Given the description of an element on the screen output the (x, y) to click on. 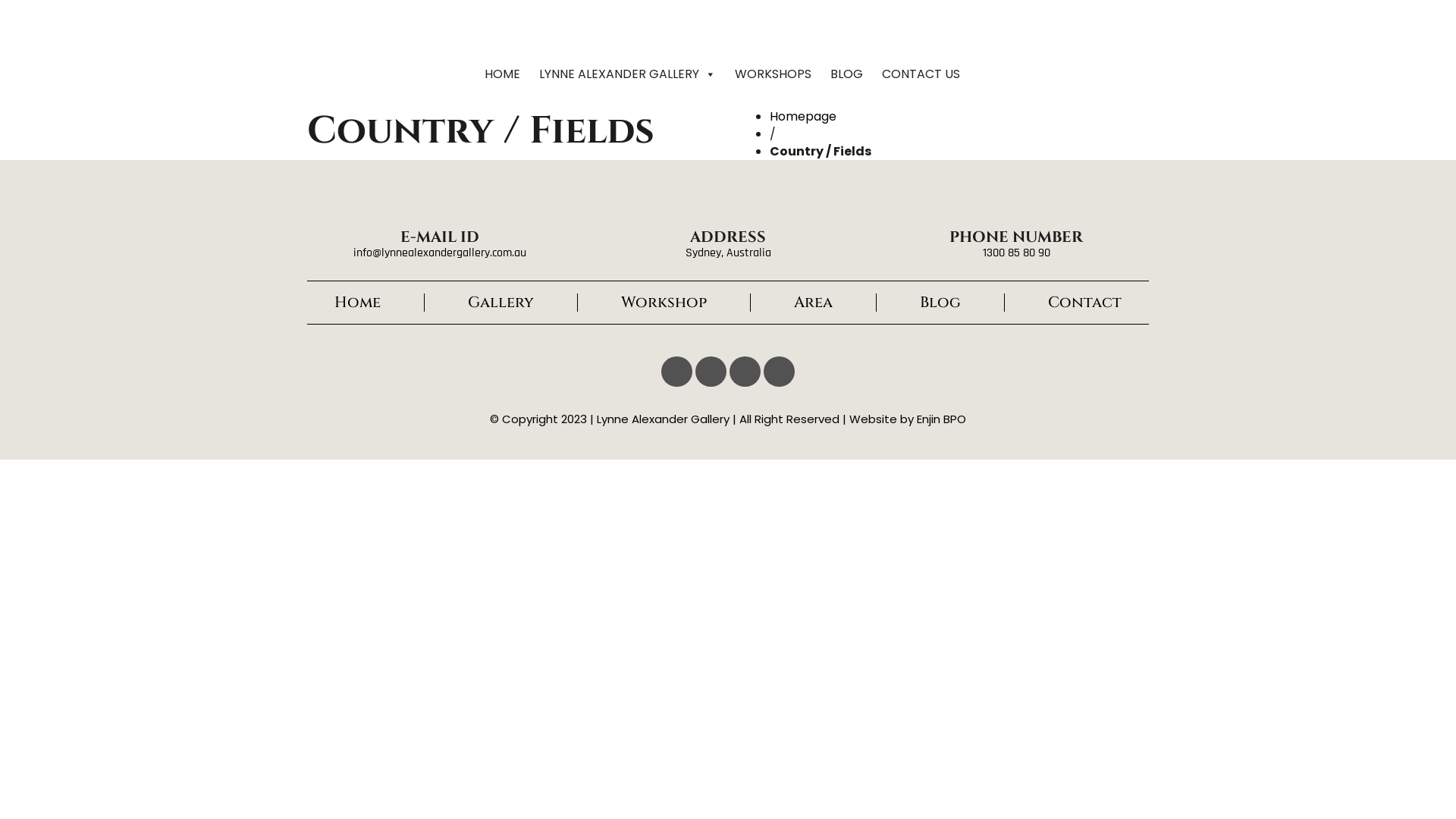
BLOG Element type: text (852, 74)
1300 85 80 90 Element type: text (1016, 252)
Homepage Element type: text (802, 116)
Workshop Element type: text (663, 301)
Sydney, Australia Element type: text (728, 252)
Enjin BPO Element type: text (941, 418)
info@lynnealexandergallery.com.au Element type: text (439, 252)
Area Element type: text (812, 301)
Gallery Element type: text (500, 301)
WORKSHOPS Element type: text (778, 74)
Contact Element type: text (1084, 301)
Blog Element type: text (939, 301)
CONTACT US Element type: text (926, 74)
HOME Element type: text (507, 74)
LYNNE ALEXANDER GALLERY Element type: text (633, 74)
Home Element type: text (357, 301)
